Given the description of an element on the screen output the (x, y) to click on. 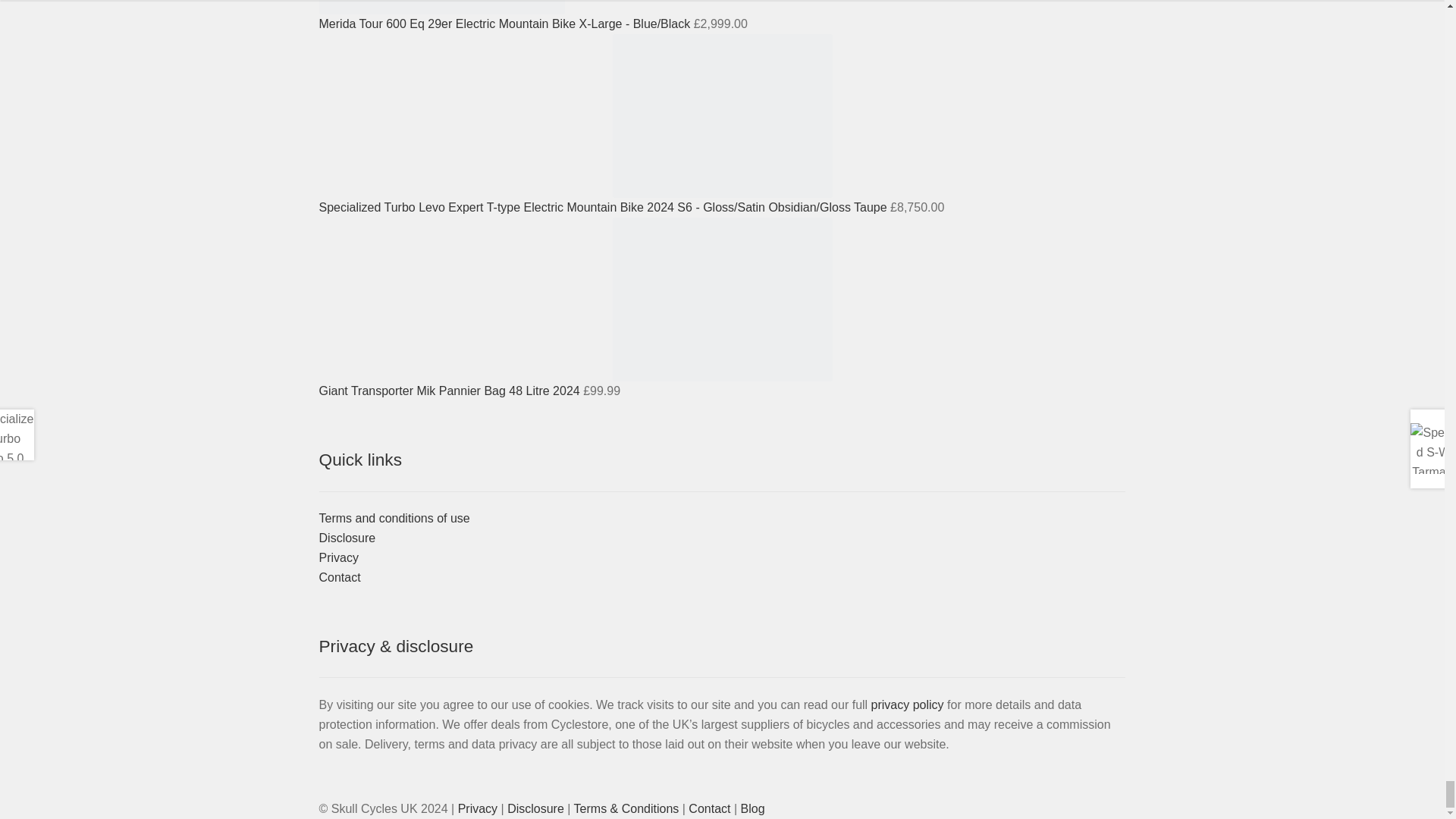
Privacy (477, 808)
Terms and conditions (626, 808)
Disclosure (535, 808)
Contact (709, 808)
Blog (753, 808)
